Given the description of an element on the screen output the (x, y) to click on. 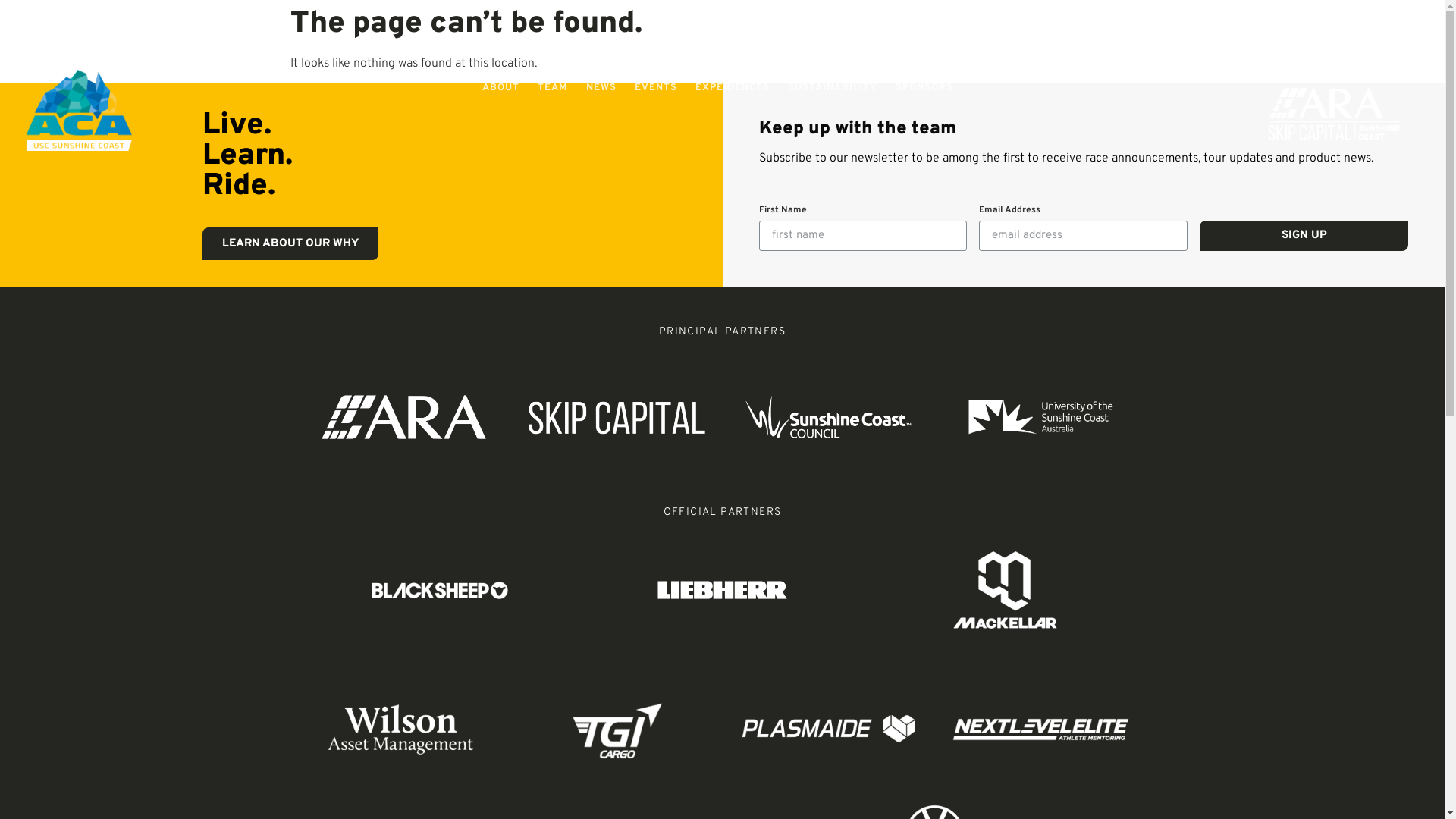
SIGN UP Element type: text (1303, 235)
SUSTAINABILITY Element type: text (832, 87)
NEWS Element type: text (601, 87)
LEARN ABOUT OUR WHY Element type: text (290, 243)
EXPERIENCES Element type: text (732, 87)
TEAM Element type: text (552, 87)
ABOUT Element type: text (500, 87)
EVENTS Element type: text (655, 87)
SPONSORS Element type: text (924, 87)
